Given the description of an element on the screen output the (x, y) to click on. 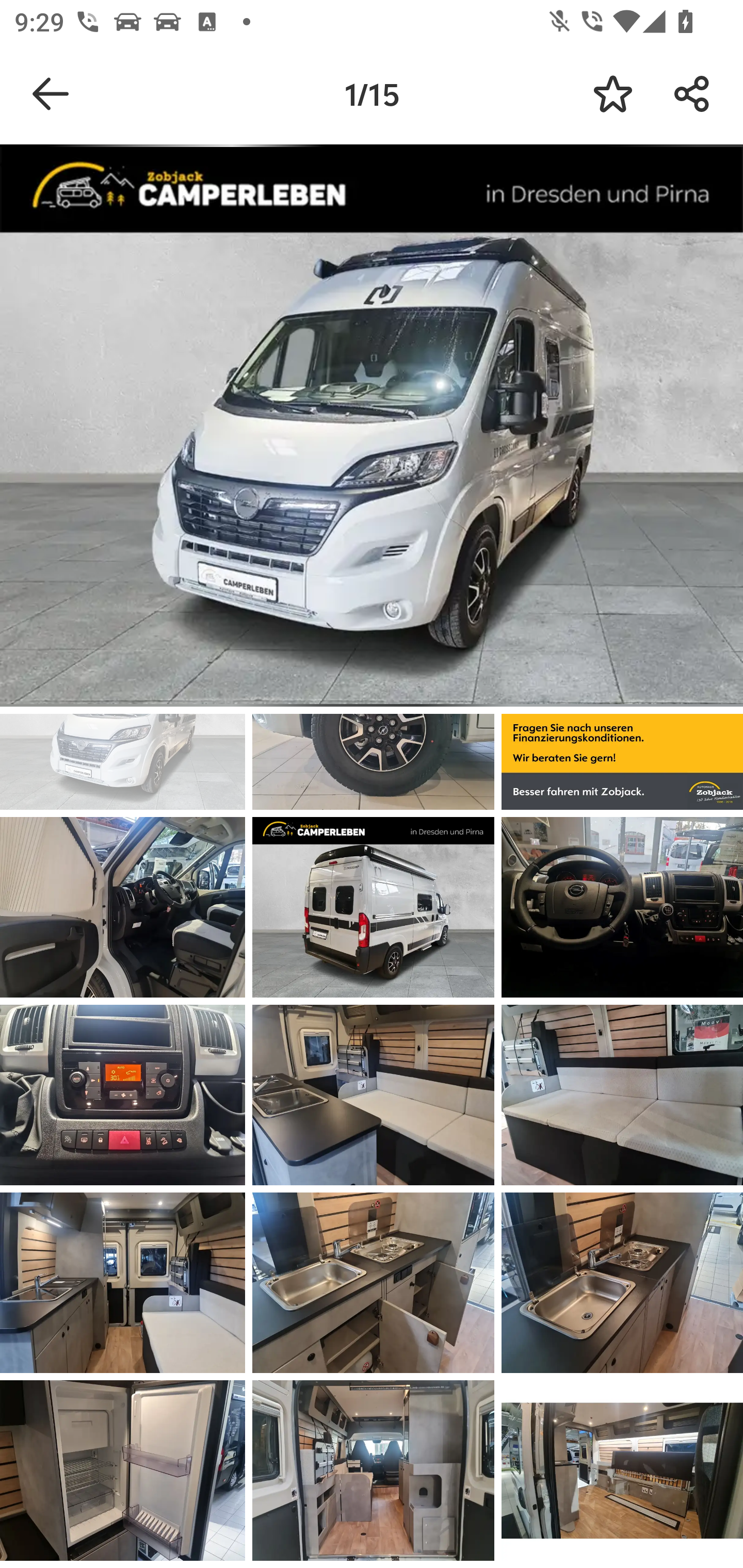
back button (50, 93)
share button (692, 93)
main image view (371, 428)
image (122, 906)
image (373, 906)
image (622, 906)
image (122, 1095)
image (373, 1095)
image (622, 1095)
image (122, 1283)
image (373, 1283)
image (622, 1283)
image (122, 1469)
image (373, 1469)
image (622, 1469)
